Given the description of an element on the screen output the (x, y) to click on. 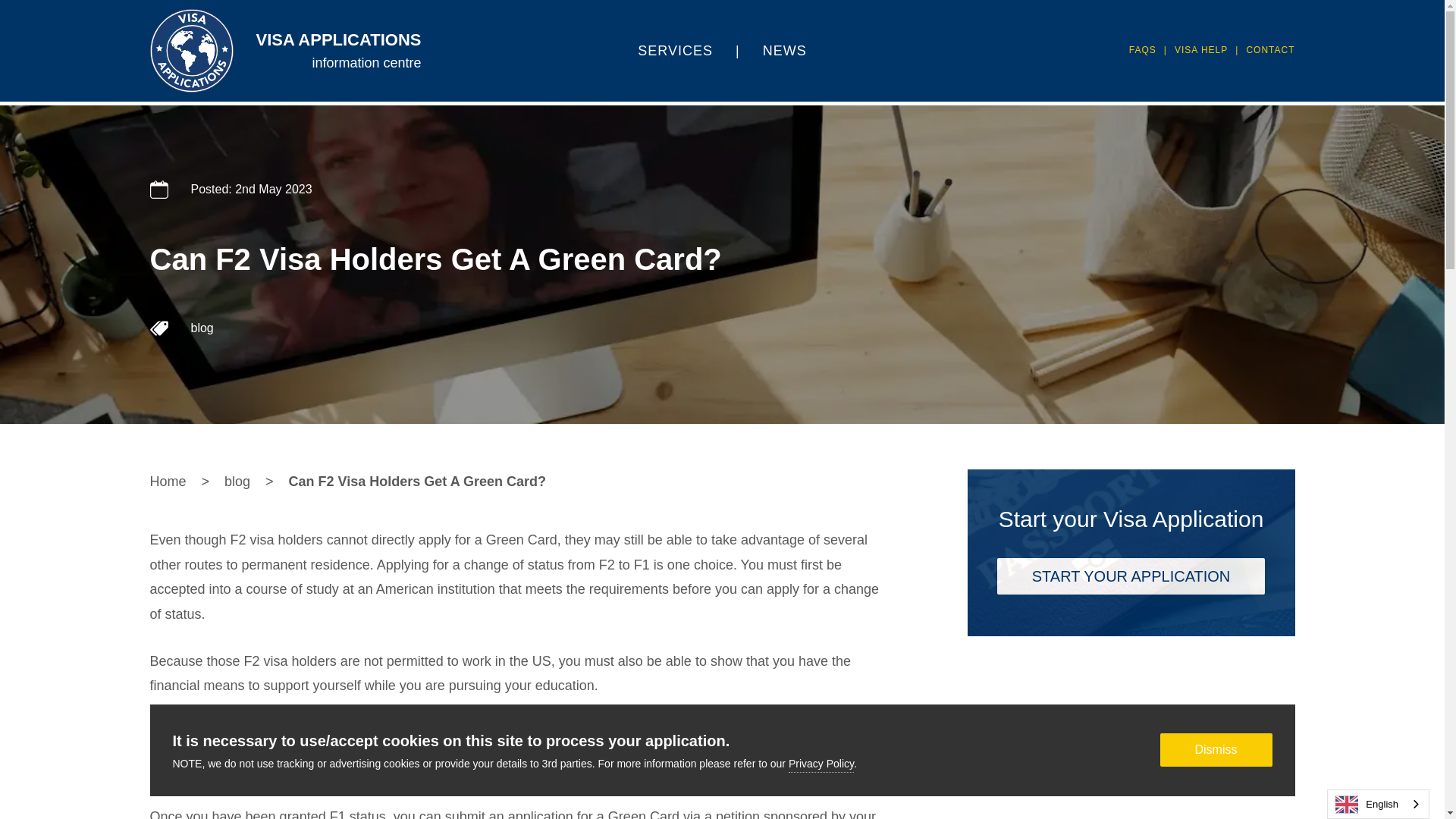
blog (202, 327)
Dismiss (1216, 749)
Home (167, 481)
Privacy Policy (821, 765)
NEWS (784, 50)
Can F2 Visa Holders Get A Green Card? (417, 481)
VISA HELP (1200, 50)
CONTACT (1270, 50)
English (1377, 804)
FAQS (1142, 50)
START YOUR APPLICATION (1131, 579)
blog (237, 481)
SERVICES (675, 50)
